Given the description of an element on the screen output the (x, y) to click on. 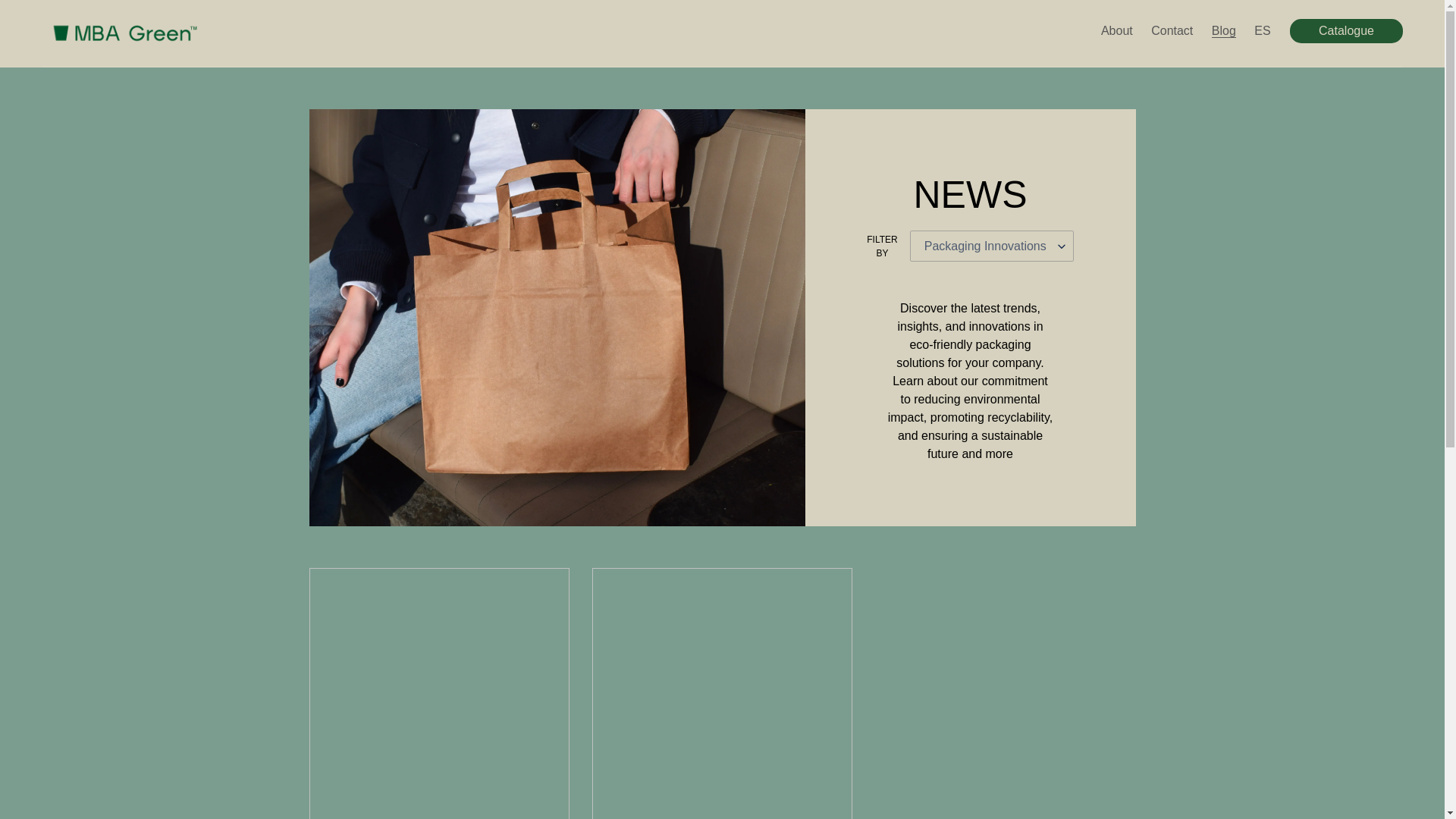
ES (1262, 30)
Blog (1223, 30)
About (1116, 30)
Packaging innovations for e-commerce (438, 693)
Sustainable packaging: The Future of Takeaway and Delivery (721, 693)
Catalogue (1345, 30)
Contact (1170, 30)
